Given the description of an element on the screen output the (x, y) to click on. 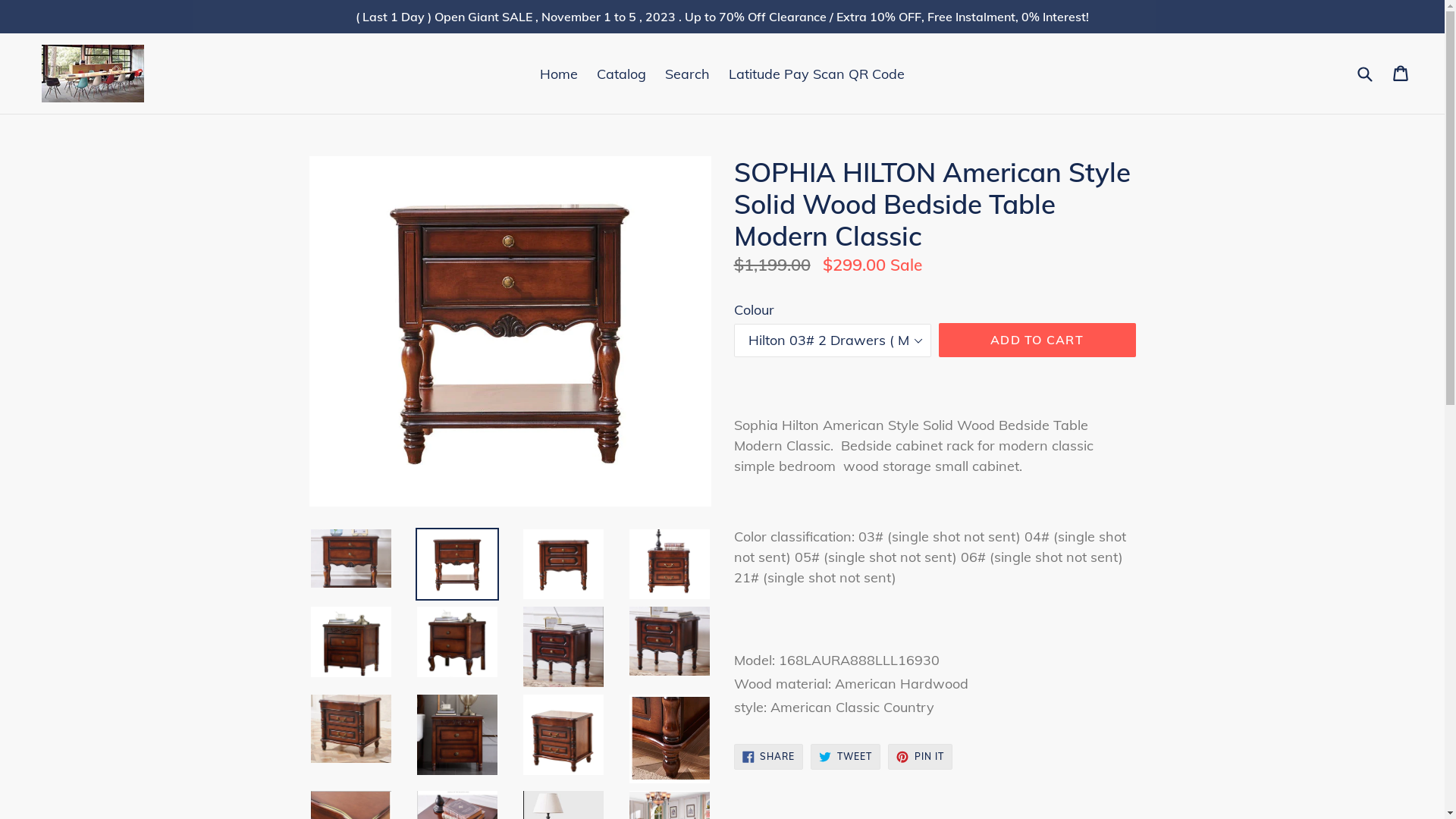
888# Element type: hover (934, 489)
TWEET
TWEET ON TWITTER Element type: text (845, 756)
Catalog Element type: text (621, 72)
ADD TO CART Element type: text (1036, 339)
Cart
Cart Element type: text (1401, 73)
Latitude Pay Scan QR Code Element type: text (816, 72)
Submit Element type: text (1363, 73)
Home Element type: text (558, 72)
PIN IT
PIN ON PINTEREST Element type: text (920, 756)
SHARE
SHARE ON FACEBOOK Element type: text (768, 756)
Search Element type: text (687, 72)
888# Element type: hover (934, 512)
Wood Element type: hover (934, 600)
